Given the description of an element on the screen output the (x, y) to click on. 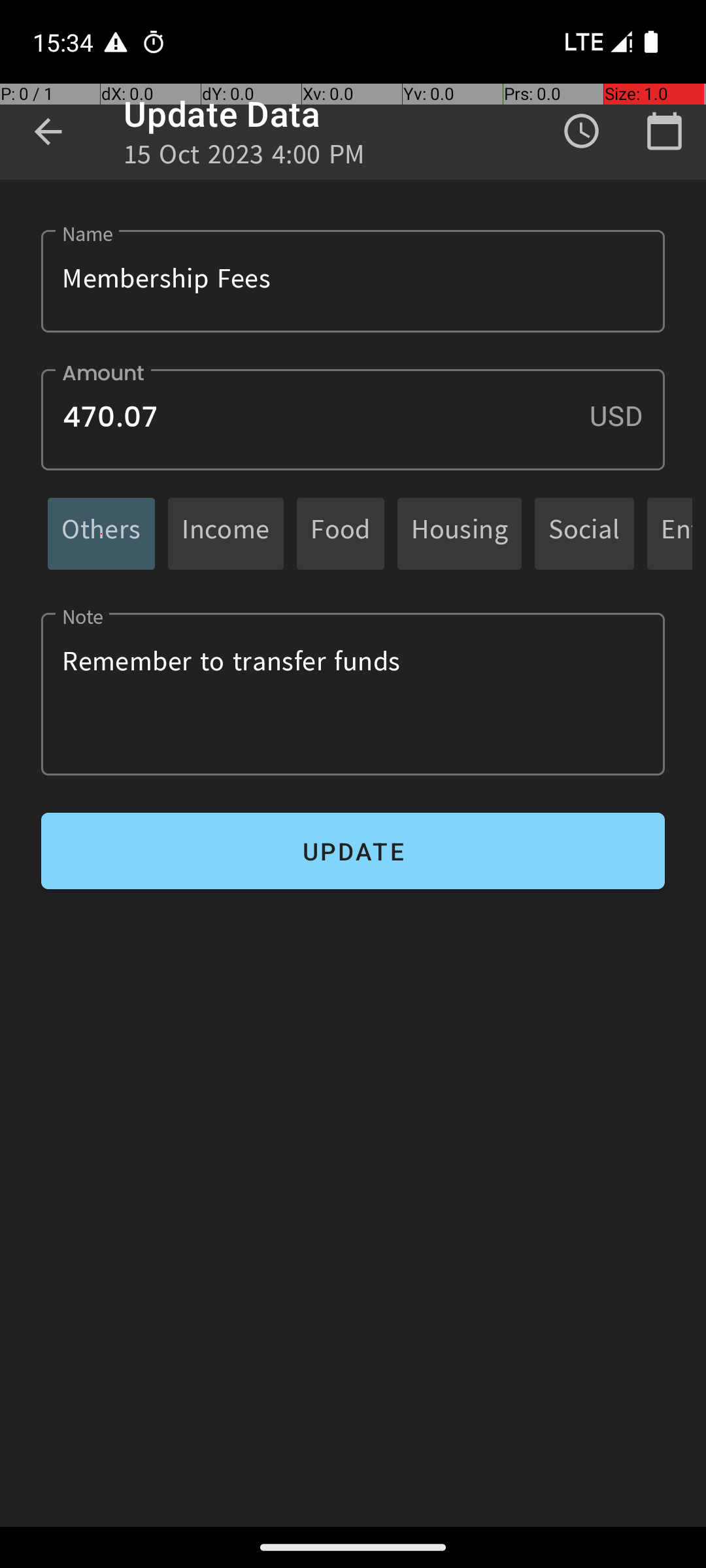
Update Data Element type: android.widget.TextView (221, 113)
15 Oct 2023 4:00 PM Element type: android.widget.TextView (244, 157)
Membership Fees Element type: android.widget.EditText (352, 280)
470.07 Element type: android.widget.EditText (352, 419)
Remember to transfer funds Element type: android.widget.EditText (352, 693)
UPDATE Element type: android.widget.Button (352, 850)
Others Element type: android.widget.TextView (101, 533)
